Given the description of an element on the screen output the (x, y) to click on. 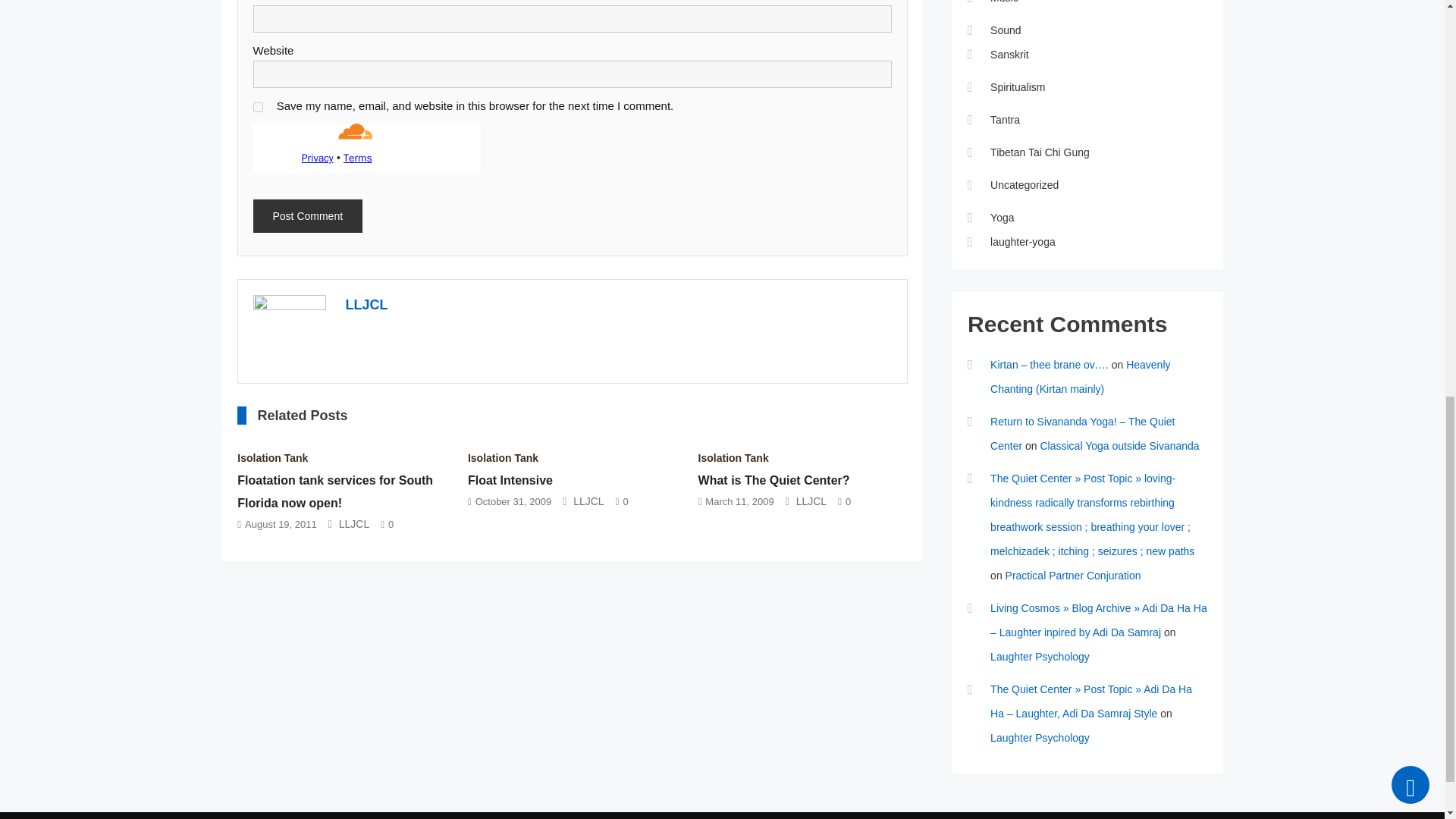
Floatation tank services for South Florida now open! (334, 491)
Isolation Tank (502, 458)
Posts by LLJCL (367, 304)
yes (258, 107)
Isolation Tank (272, 458)
August 19, 2011 (280, 523)
October 31, 2009 (513, 501)
LLJCL (367, 304)
Isolation Tank (733, 458)
Float Intensive (510, 480)
